Given the description of an element on the screen output the (x, y) to click on. 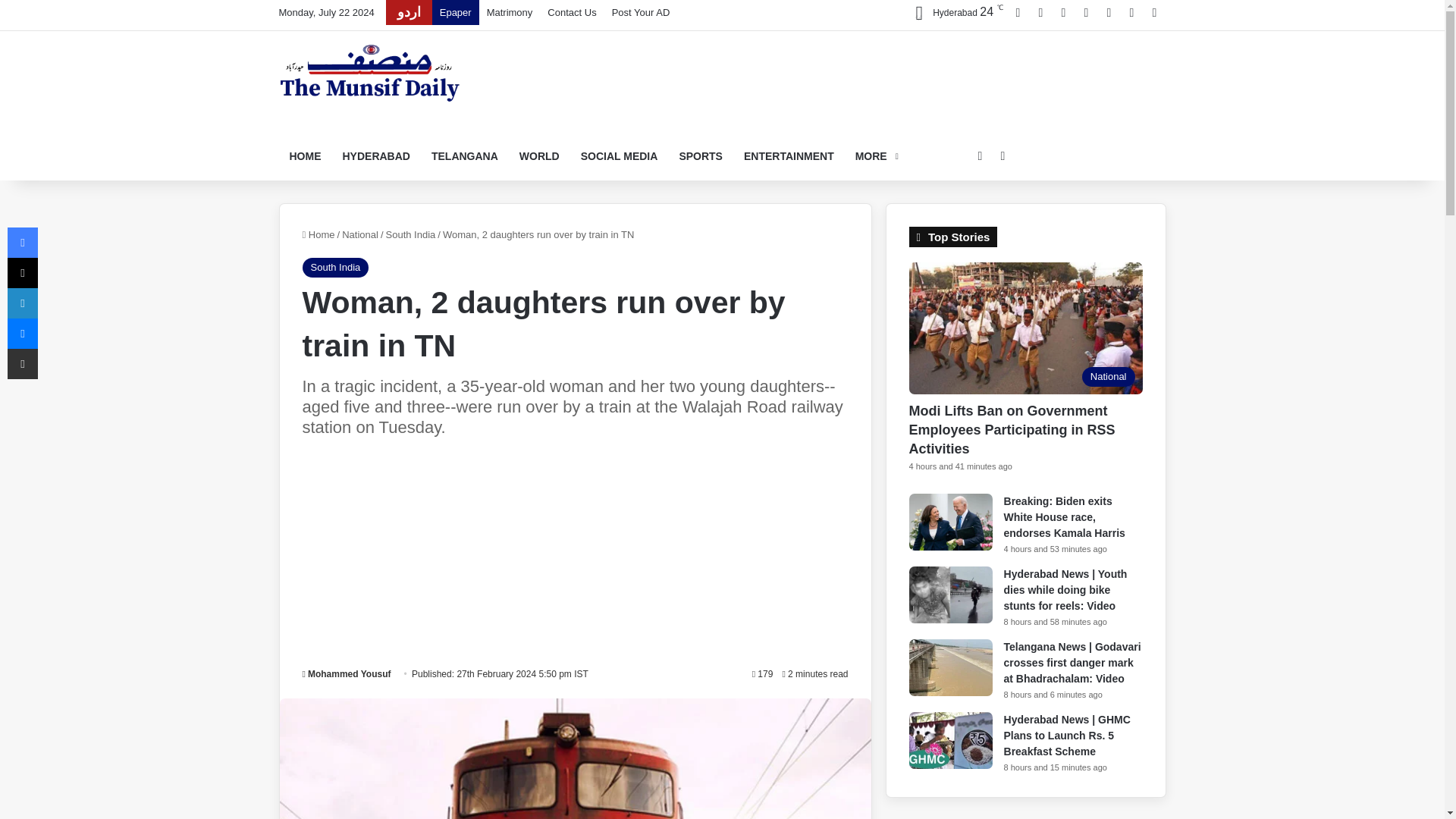
SOCIAL MEDIA (619, 156)
Telegram (1109, 12)
TELANGANA (464, 156)
WORLD (539, 156)
Contact Us (572, 12)
Drizzle (954, 12)
Mohammed Yousuf (345, 674)
RSS (1154, 12)
WhatsApp (1131, 12)
Instagram (1086, 12)
Matrimony (509, 12)
Epaper (455, 12)
LinkedIn (1063, 12)
X (1040, 12)
HYDERABAD (375, 156)
